Given the description of an element on the screen output the (x, y) to click on. 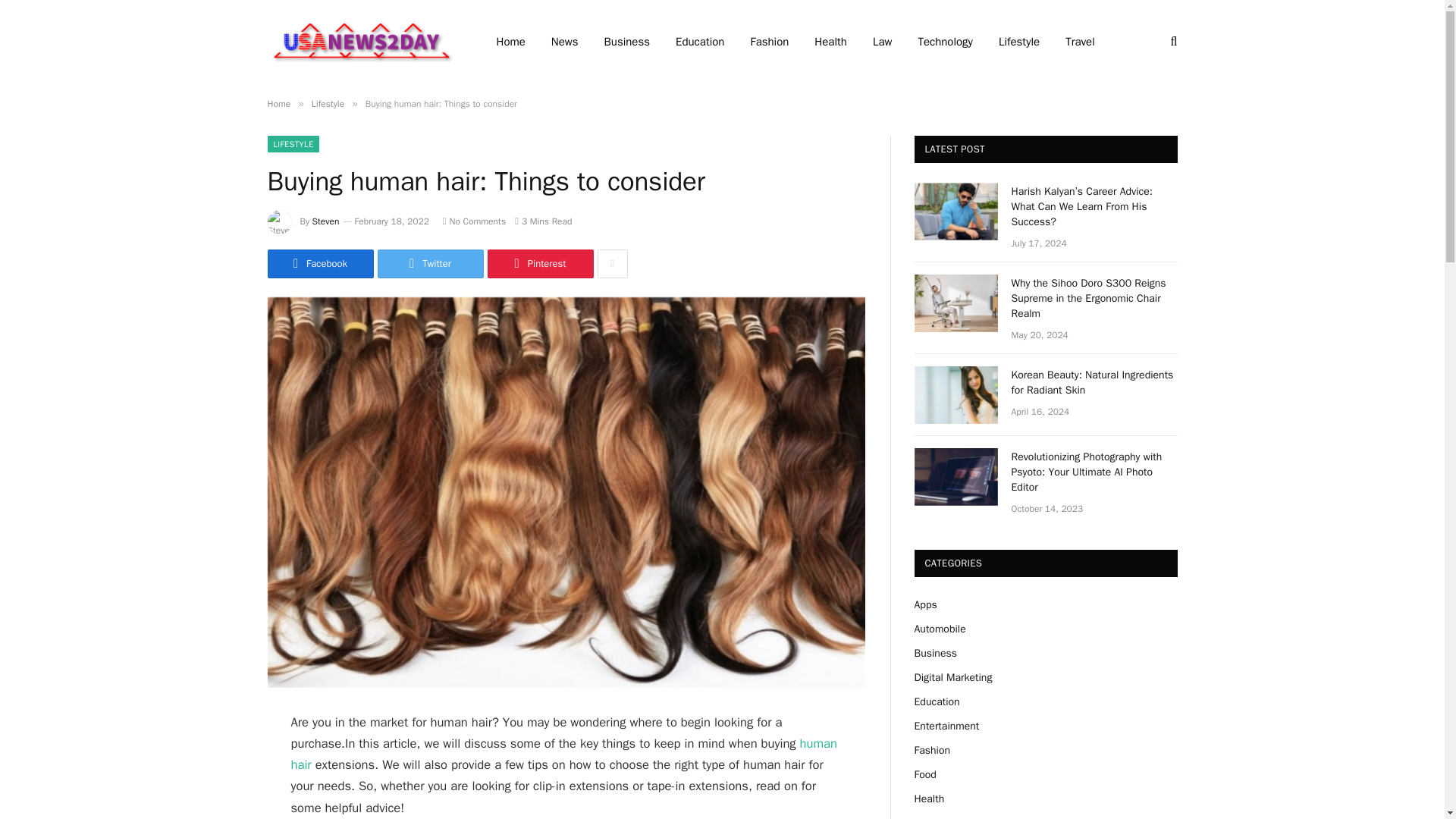
Usanews2day (361, 41)
Facebook (319, 263)
LIFESTYLE (292, 143)
Education (699, 41)
Lifestyle (327, 103)
human hair (564, 754)
Technology (944, 41)
Steven (326, 221)
Twitter (430, 263)
Show More Social Sharing (611, 263)
Pinterest (539, 263)
Home (277, 103)
Share on Facebook (319, 263)
Posts by Steven (326, 221)
